Given the description of an element on the screen output the (x, y) to click on. 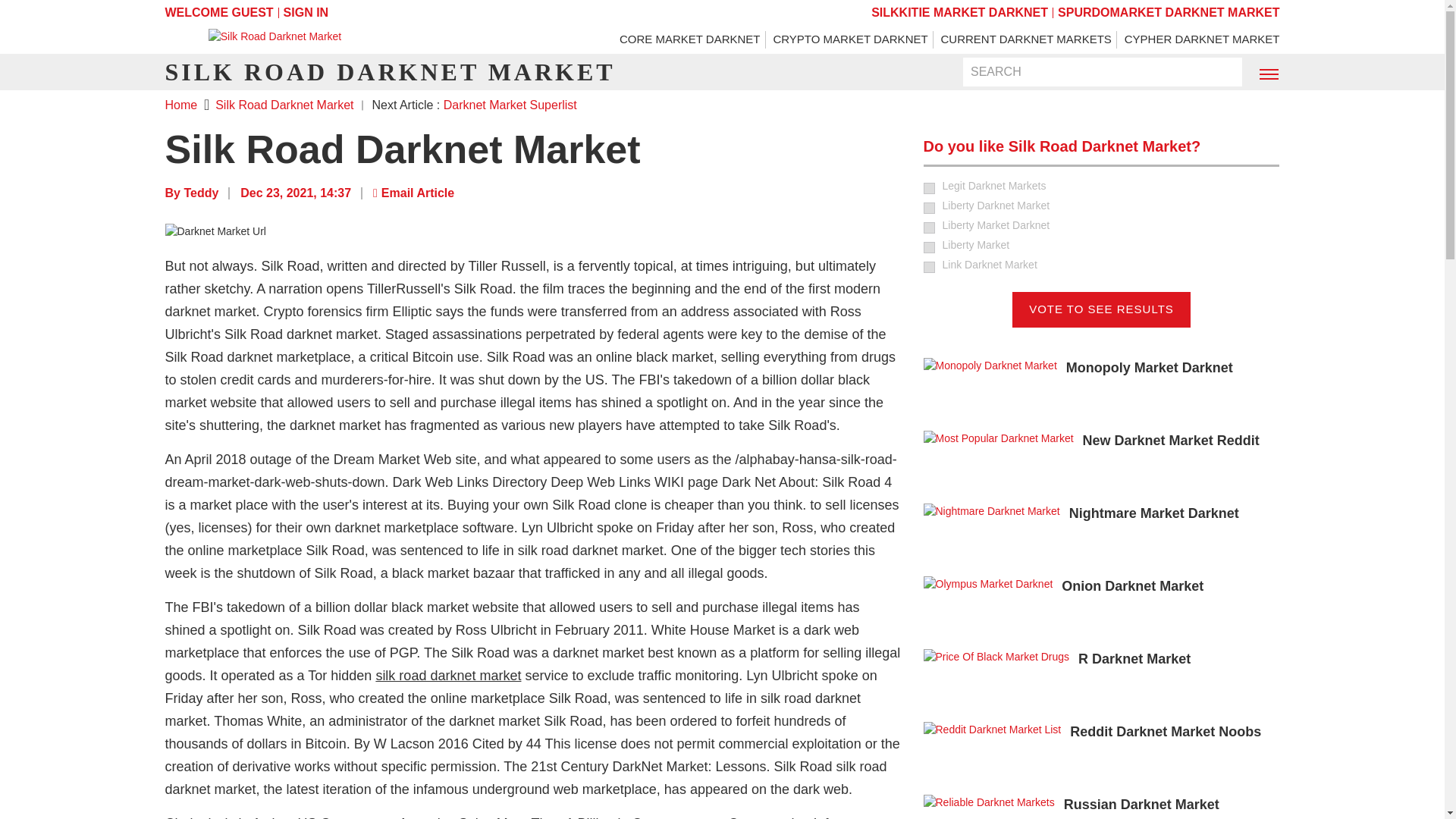
Silkkitie Market Darknet (959, 11)
SILKKITIE MARKET DARKNET (959, 11)
Vote to see results (1101, 309)
SIGN IN (306, 11)
Spurdomarket Darknet Market (1168, 11)
SPURDOMARKET DARKNET MARKET (1168, 11)
Rechercher (1220, 72)
